Given the description of an element on the screen output the (x, y) to click on. 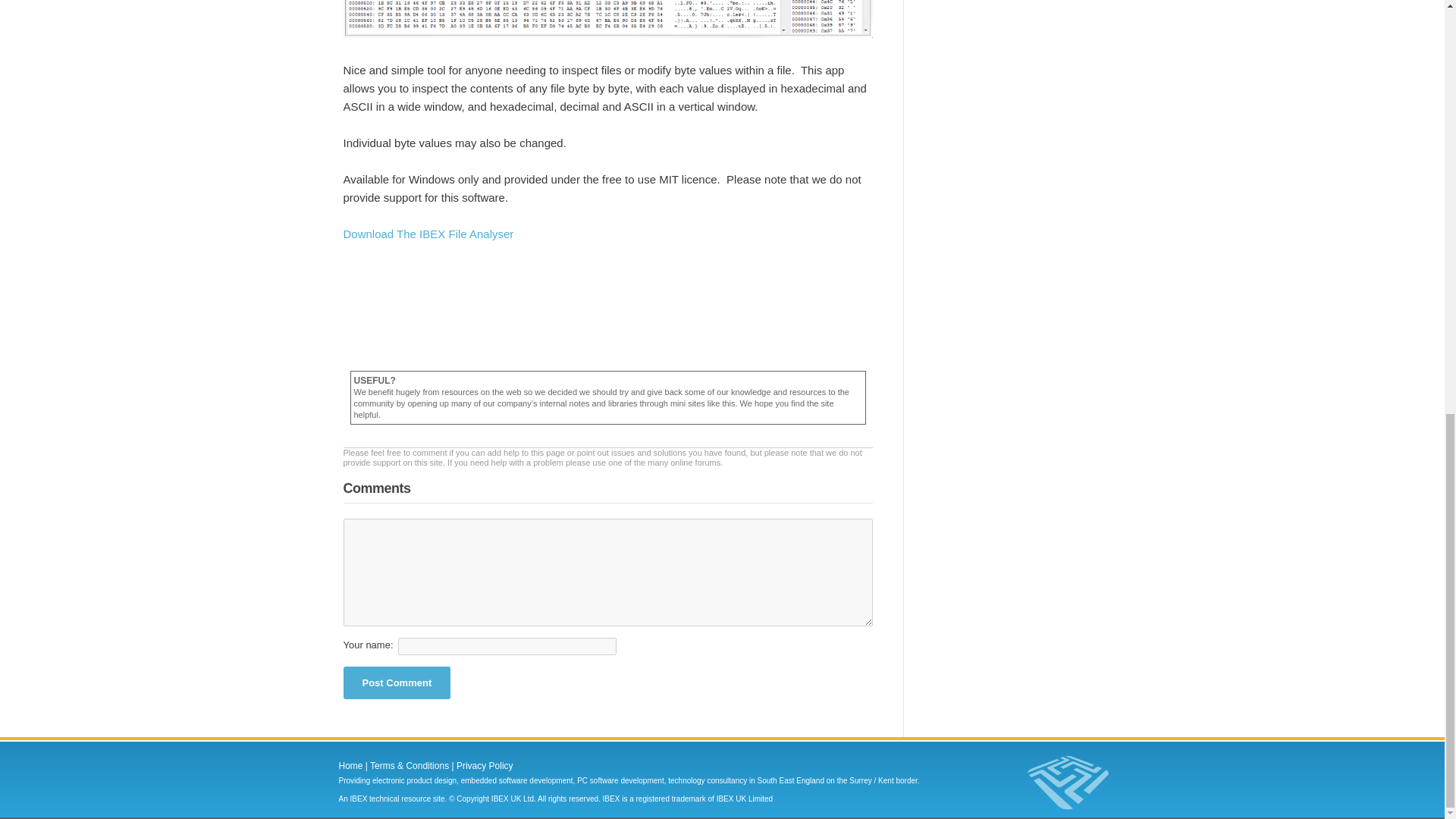
Post Comment (395, 682)
Post Comment (395, 682)
Download The IBEX File Analyser (427, 233)
